Given the description of an element on the screen output the (x, y) to click on. 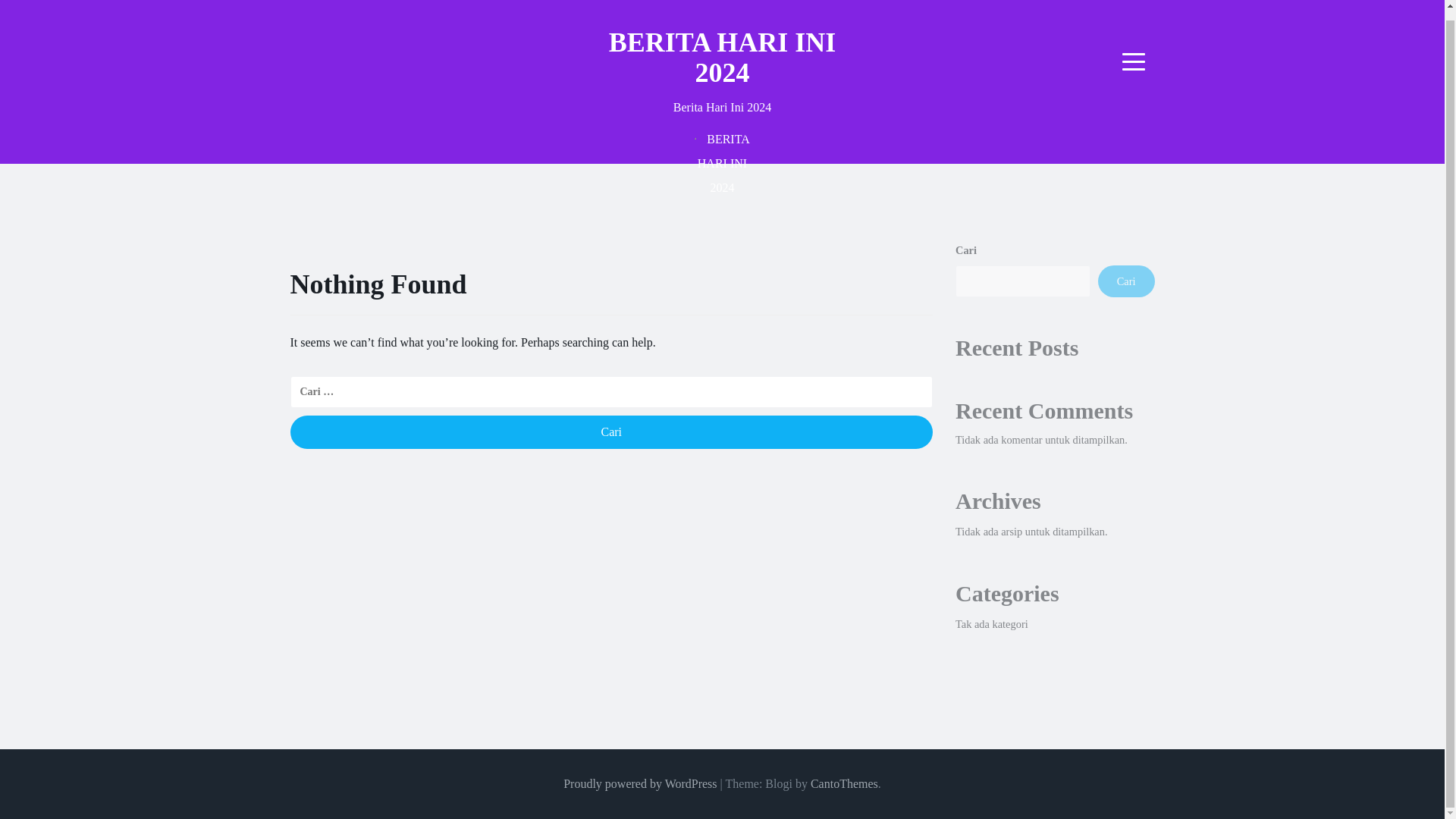
Cari (611, 431)
BERITA HARI INI 2024 (721, 57)
Cari (611, 431)
Cari (611, 431)
Menu (1133, 61)
Proudly powered by WordPress (639, 783)
Cari (1125, 281)
CantoThemes (843, 783)
